Given the description of an element on the screen output the (x, y) to click on. 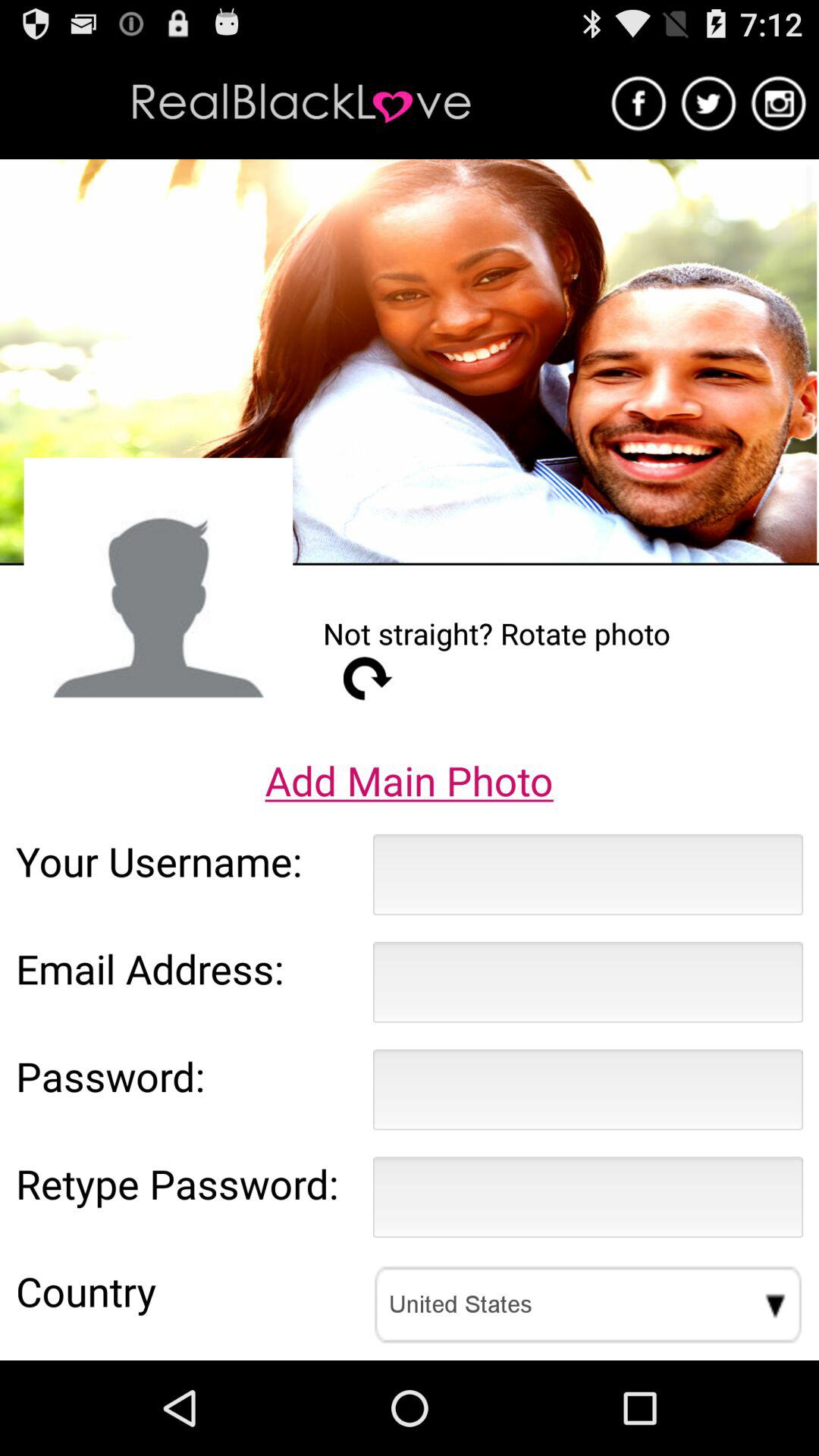
turn on the add main photo icon (409, 780)
